Given the description of an element on the screen output the (x, y) to click on. 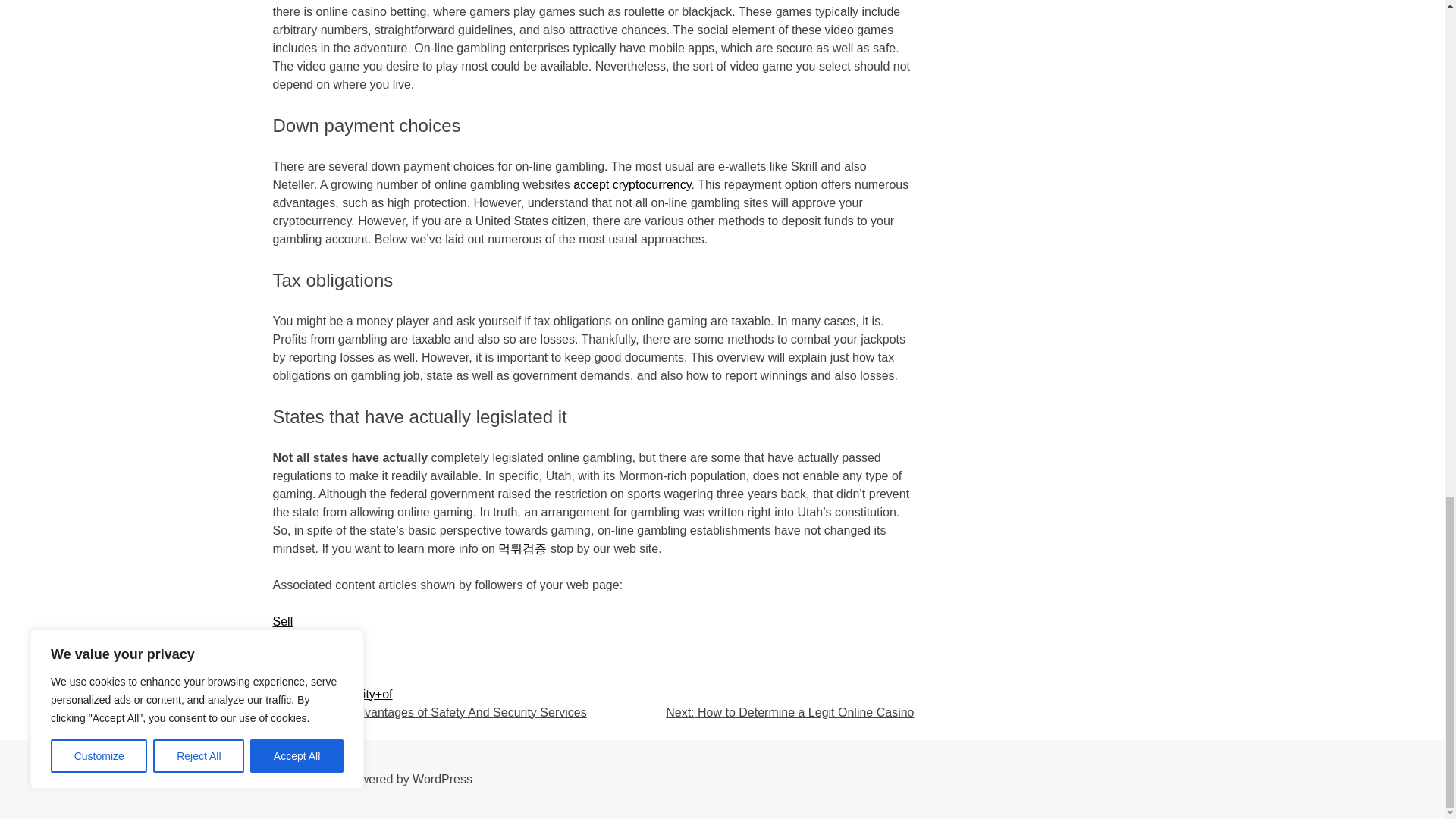
Next: How to Determine a Legit Online Casino (789, 712)
Sell (283, 621)
accept cryptocurrency (631, 184)
Great site (298, 657)
Previous: The Advantages of Safety And Security Services (429, 712)
